Given the description of an element on the screen output the (x, y) to click on. 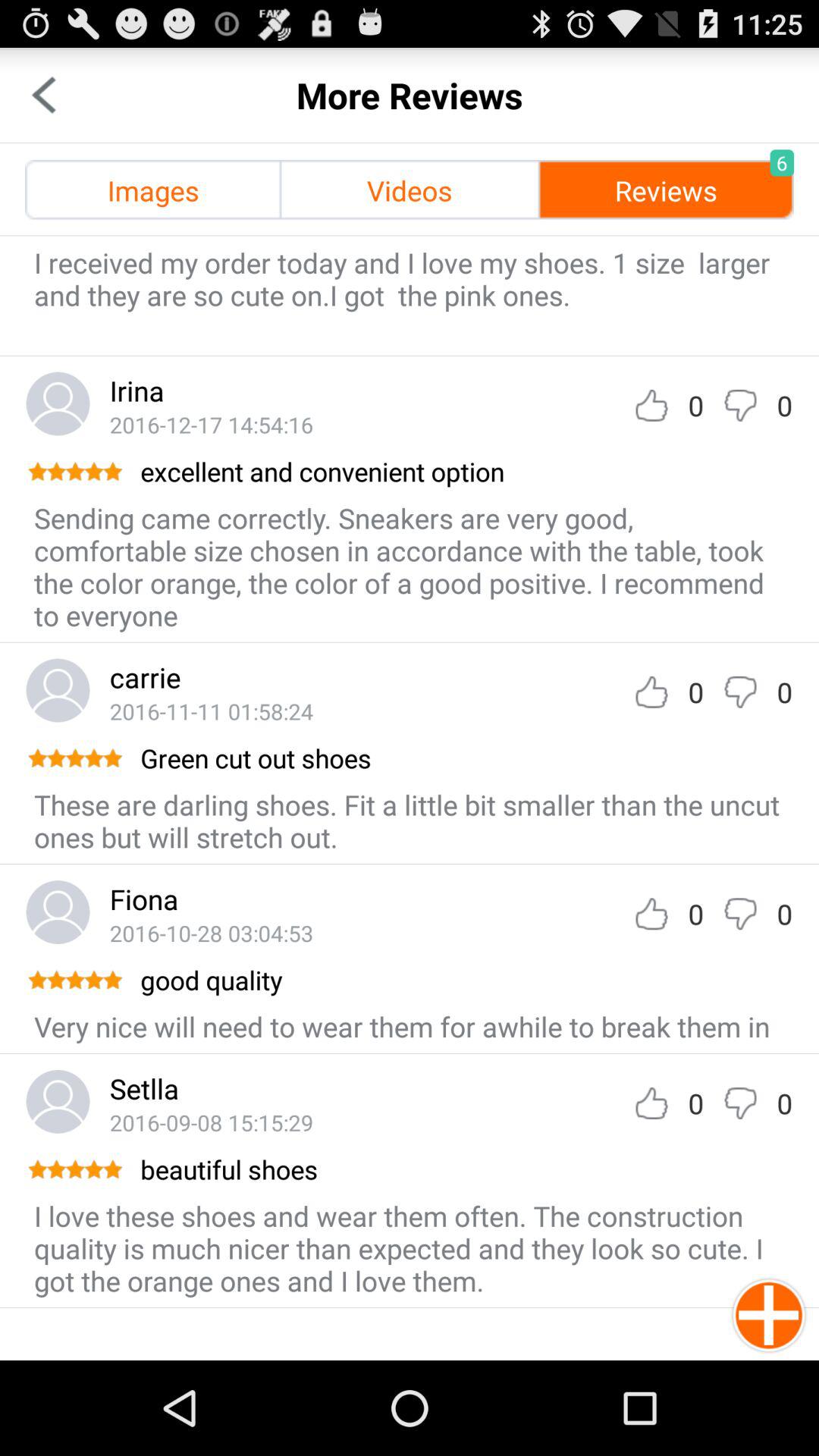
make a comment (740, 405)
